Given the description of an element on the screen output the (x, y) to click on. 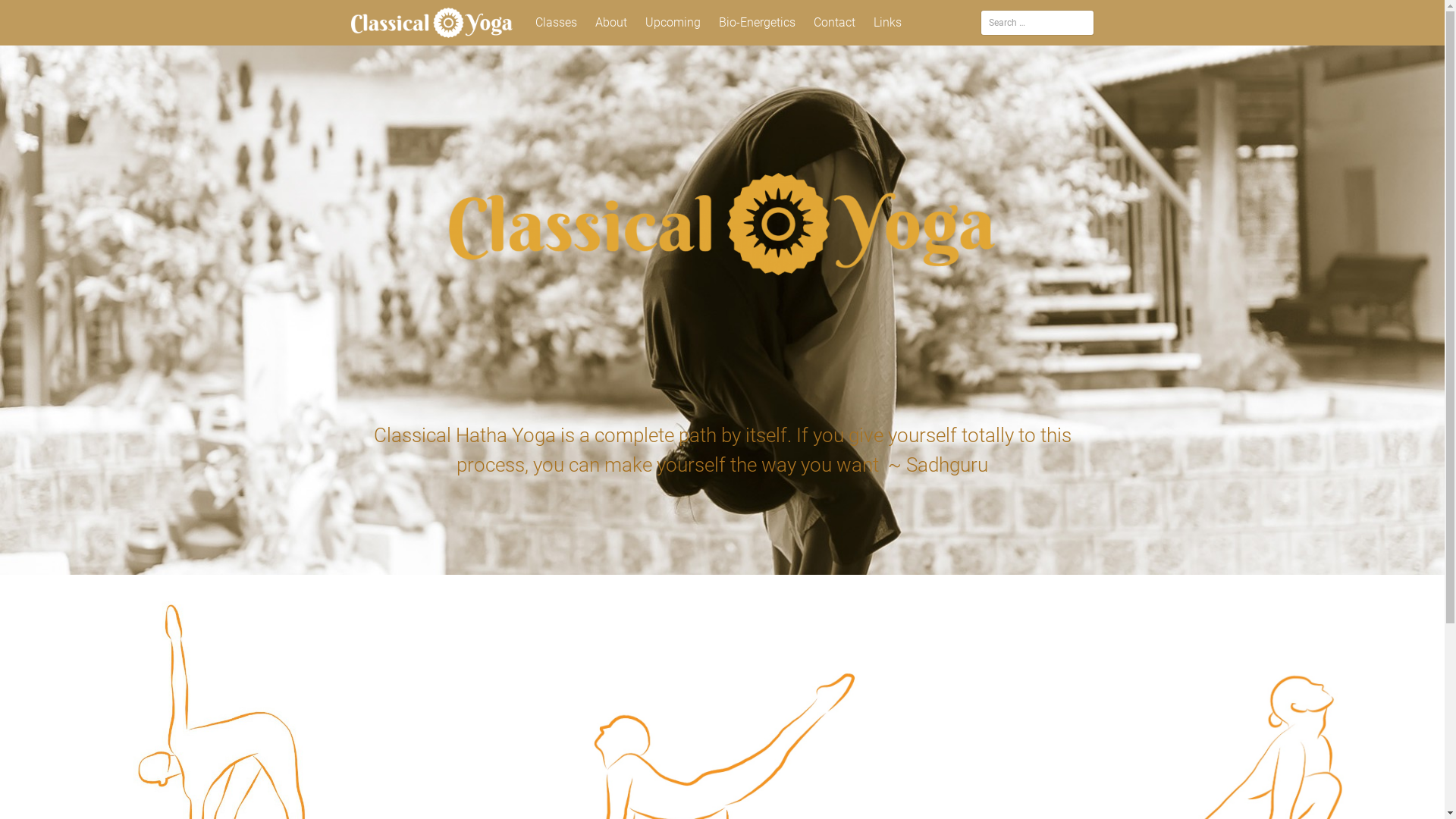
Upcoming Element type: text (672, 22)
Classes Element type: text (555, 22)
Bio-Energetics Element type: text (757, 22)
Search Element type: text (35, 15)
Contact Element type: text (834, 22)
Links Element type: text (887, 22)
About Element type: text (610, 22)
